Given the description of an element on the screen output the (x, y) to click on. 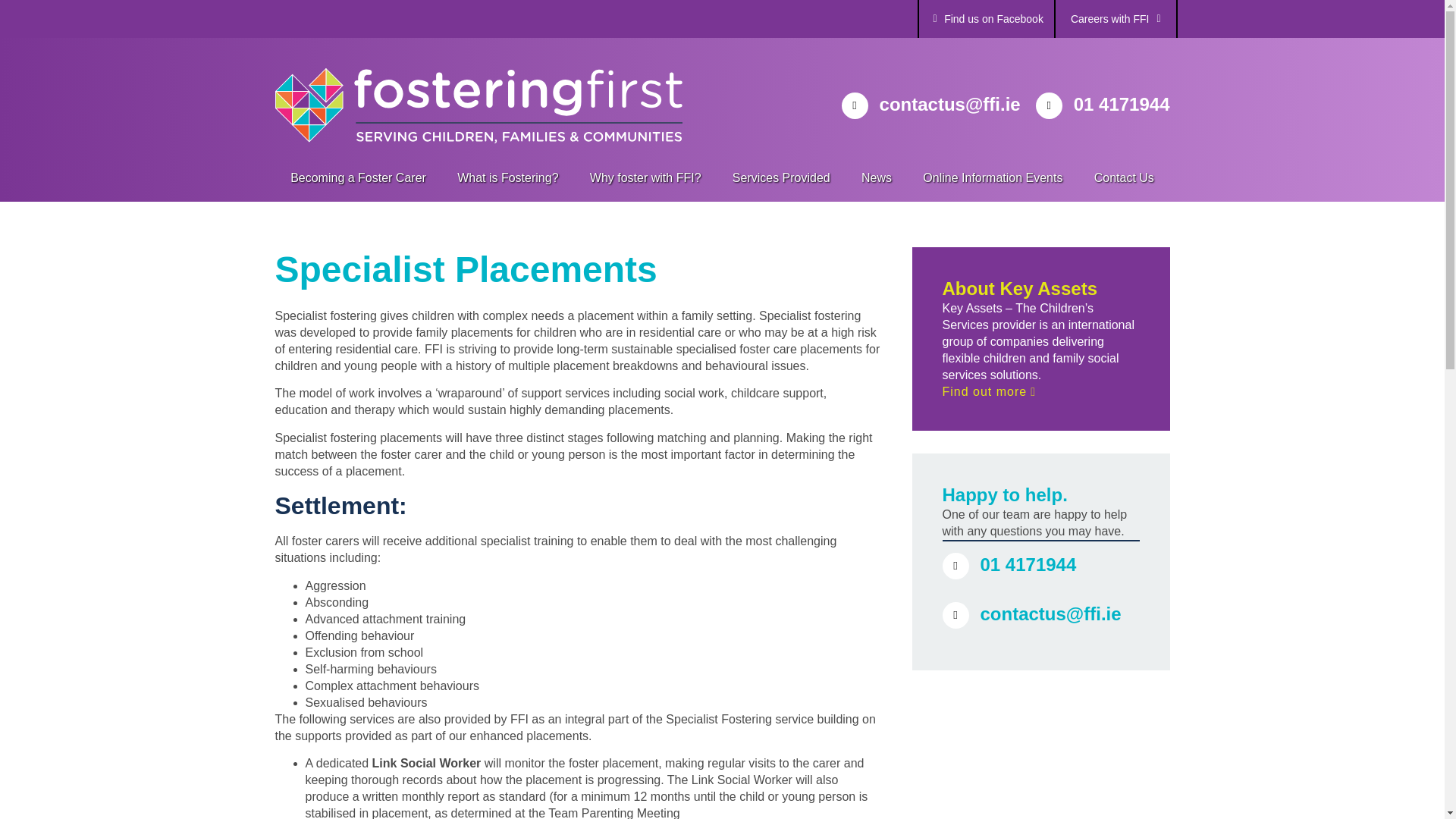
What is Fostering? (508, 177)
Why foster with FFI? (644, 177)
Careers with FFI (1115, 18)
Find us on Facebook (993, 19)
01 4171944 (1122, 104)
Services Provided (780, 177)
Becoming a Foster Carer (358, 177)
